Given the description of an element on the screen output the (x, y) to click on. 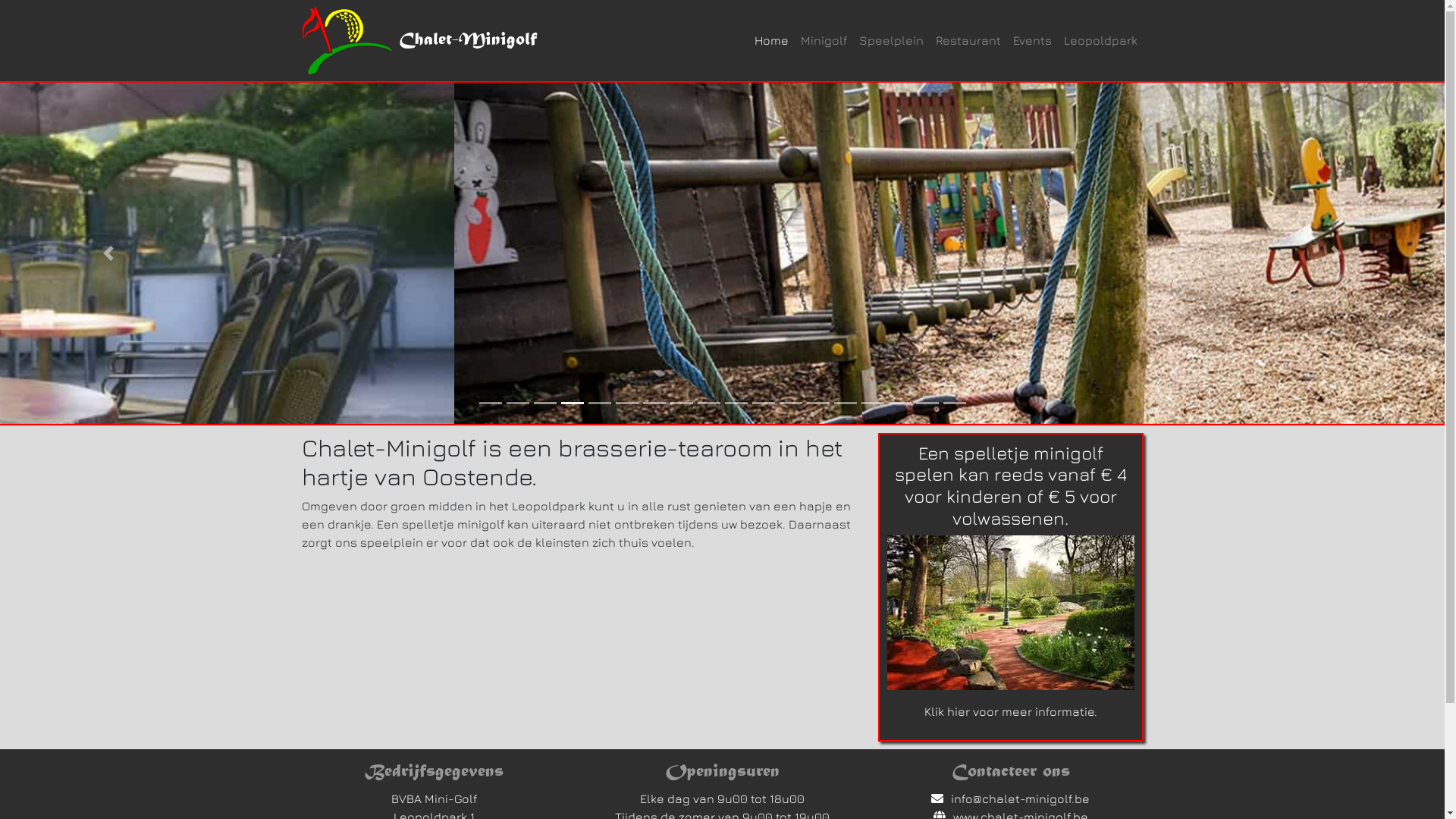
Previous Element type: text (108, 252)
Minigolf Element type: text (823, 40)
Restaurant Element type: text (968, 40)
info@chalet-minigolf.be Element type: text (1019, 798)
Speelplein Element type: text (890, 40)
Events Element type: text (1032, 40)
Home Element type: text (770, 40)
Chalet-Minigolf Element type: text (467, 39)
Next Element type: text (1335, 252)
Leopoldpark Element type: text (1099, 40)
